Given the description of an element on the screen output the (x, y) to click on. 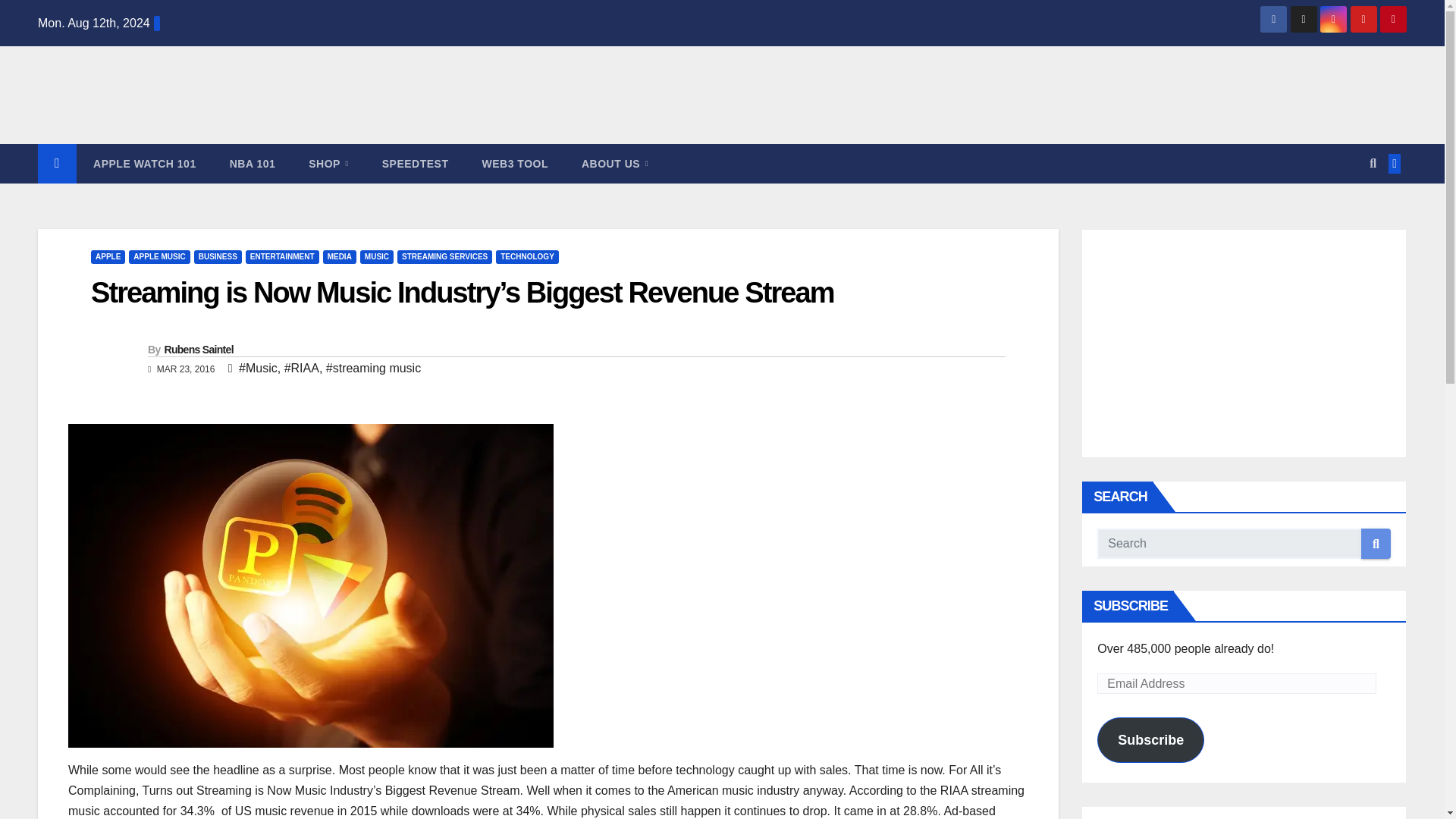
NBA 101 (252, 163)
MEDIA (339, 256)
NBA 101 (252, 163)
ABOUT US (614, 163)
SHOP (328, 163)
APPLE MUSIC (159, 256)
APPLE WATCH 101 (144, 163)
Apple Watch 101 (144, 163)
APPLE (107, 256)
Web3 Tool (514, 163)
